Given the description of an element on the screen output the (x, y) to click on. 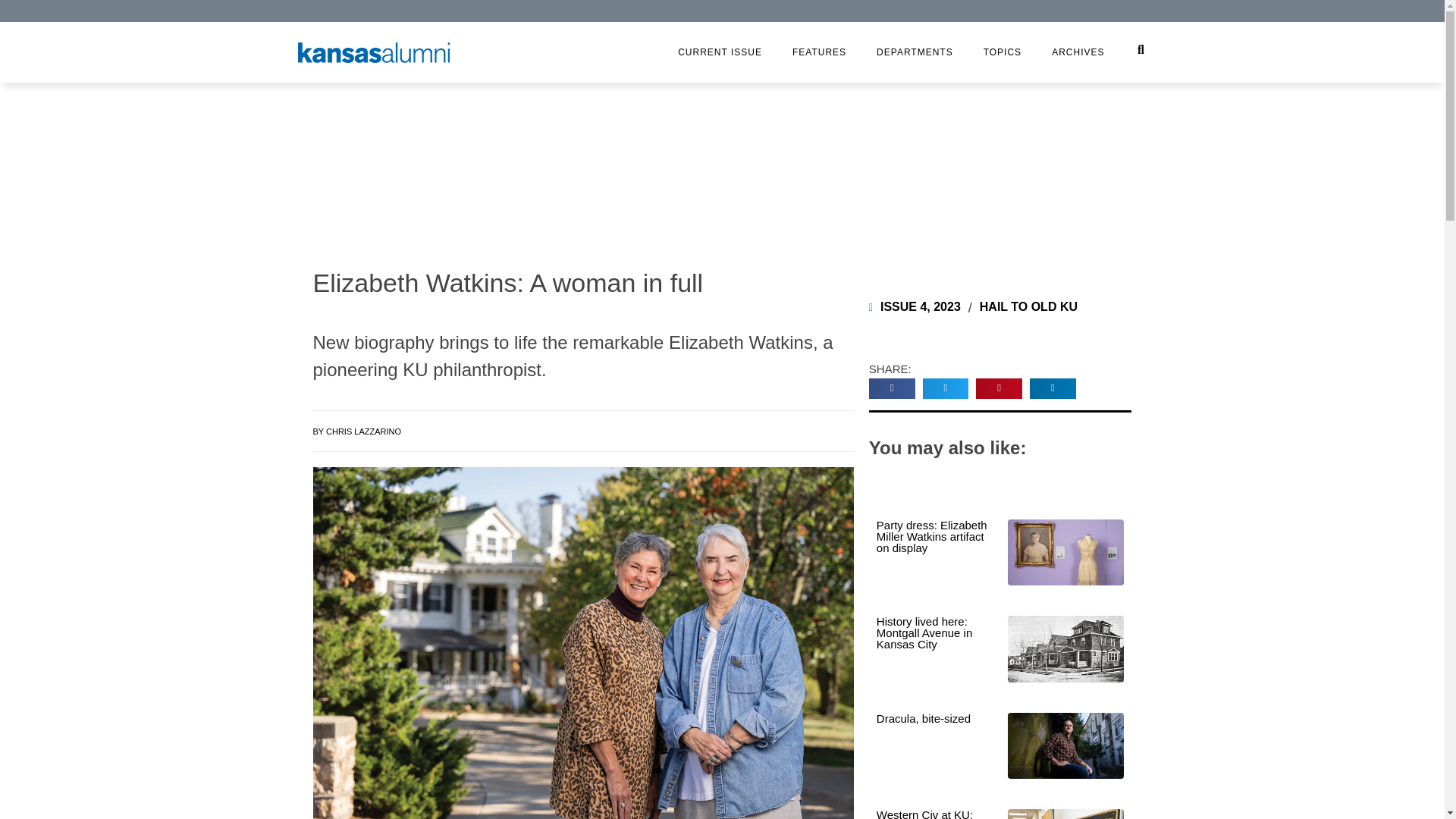
TOPICS (1002, 52)
ARCHIVES (1077, 52)
CURRENT ISSUE (719, 52)
FEATURES (819, 52)
DEPARTMENTS (914, 52)
